Given the description of an element on the screen output the (x, y) to click on. 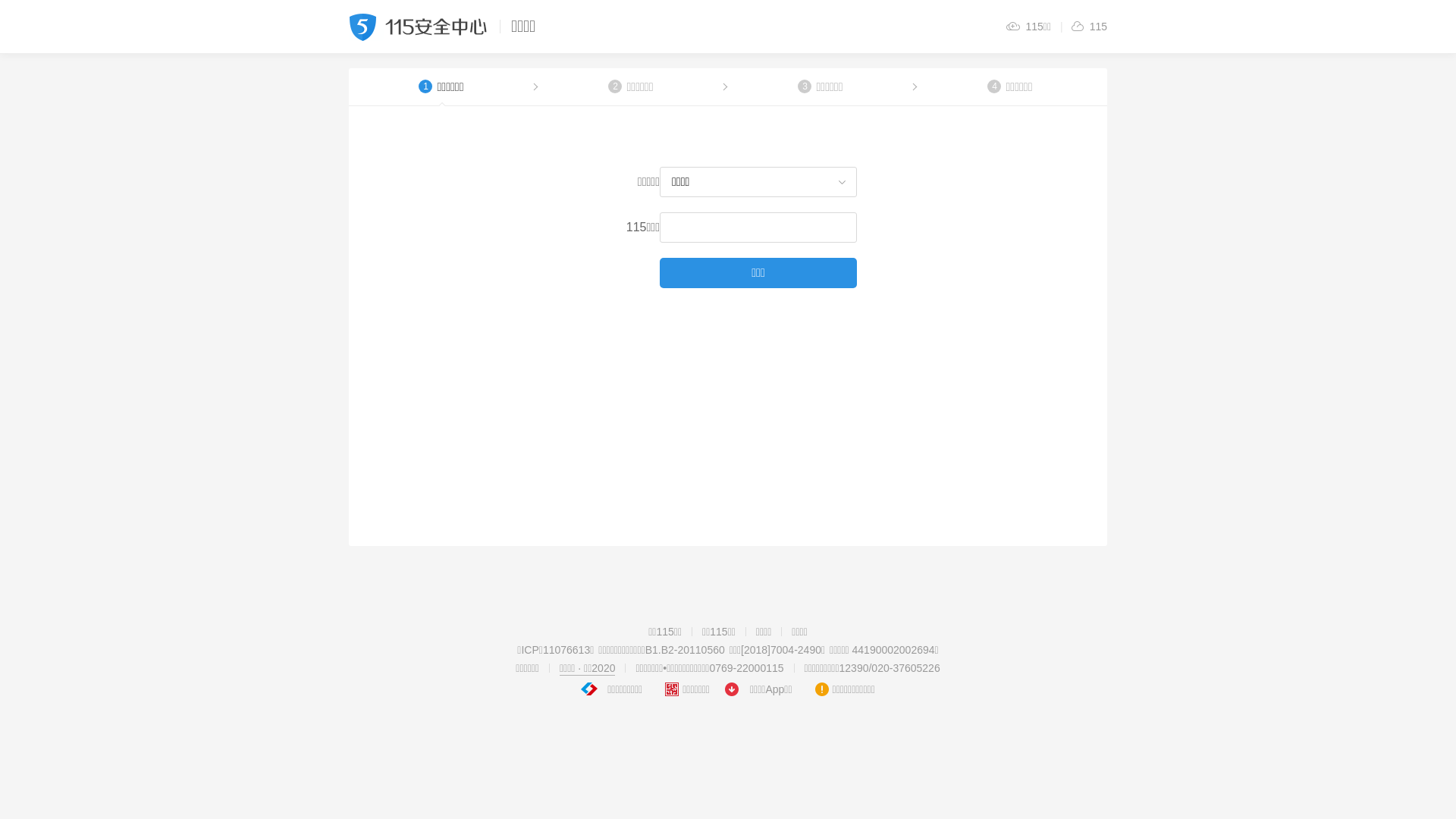
115 Element type: text (1088, 26)
